Given the description of an element on the screen output the (x, y) to click on. 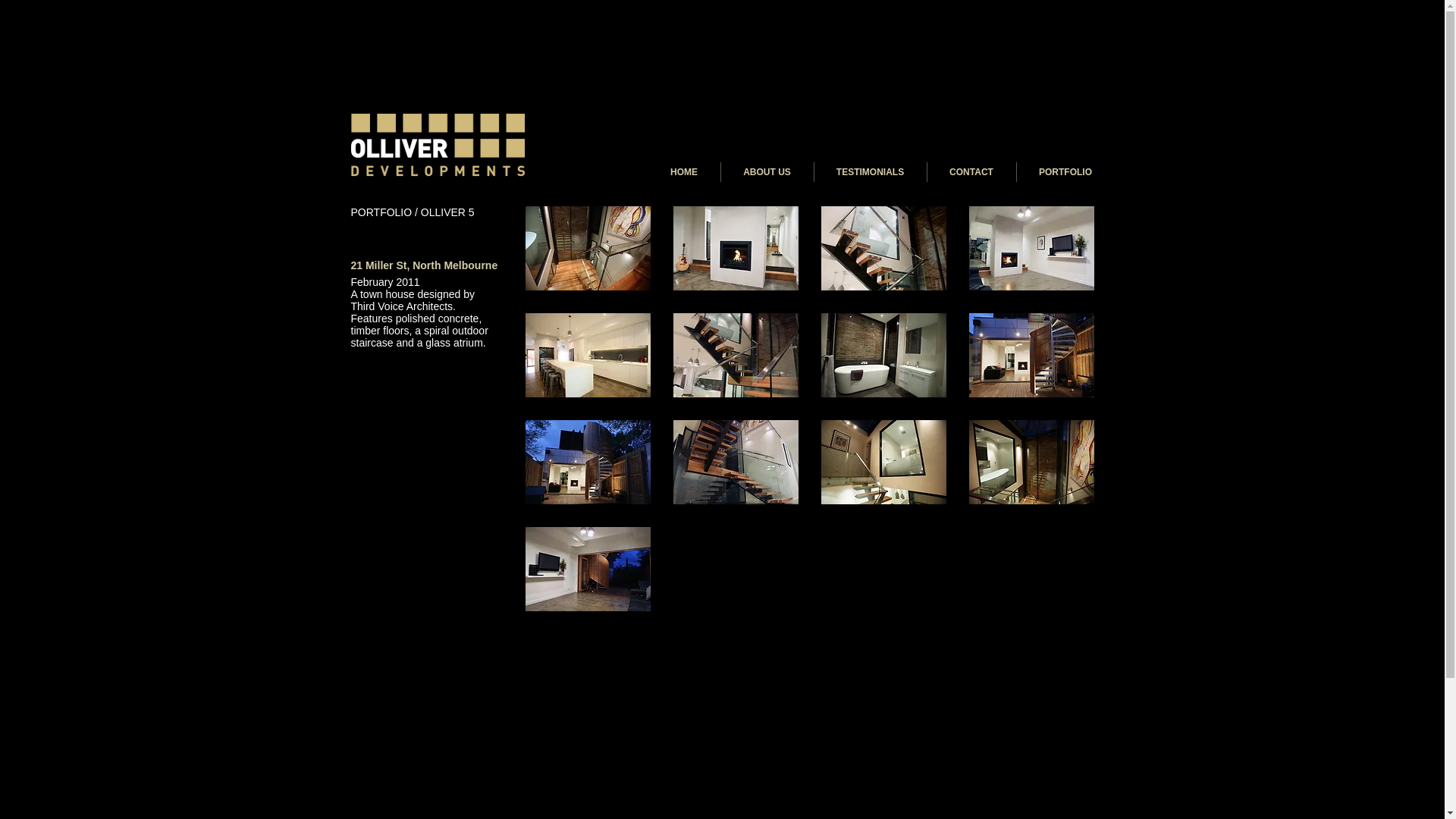
PORTFOLIO Element type: text (1064, 172)
CONTACT Element type: text (970, 172)
TESTIMONIALS Element type: text (870, 172)
ABOUT US Element type: text (766, 172)
HOME Element type: text (683, 172)
